Given the description of an element on the screen output the (x, y) to click on. 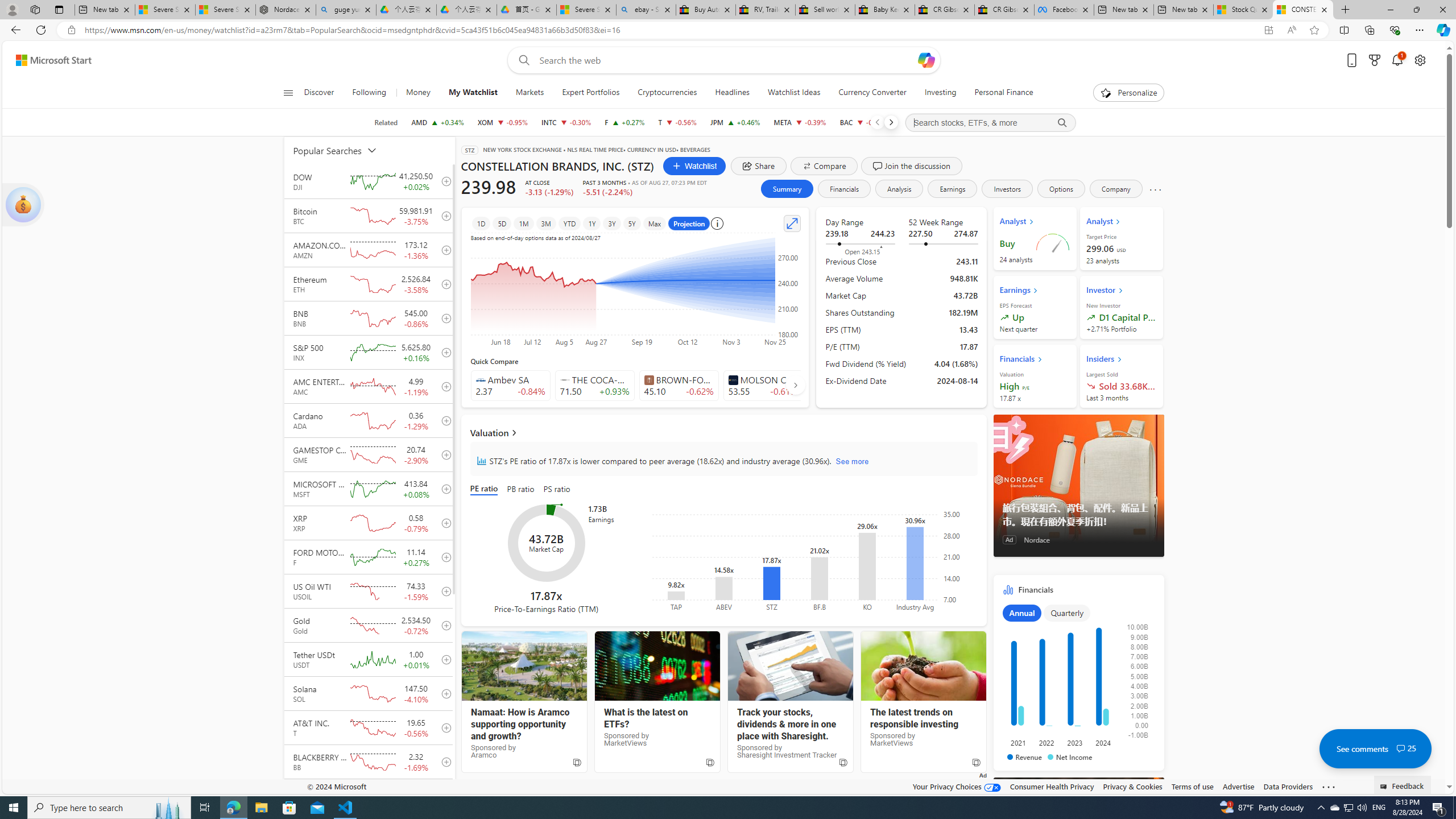
Annual (1021, 612)
Consumer Health Privacy (1051, 785)
show card (22, 204)
Cryptocurrencies (667, 92)
Investing (940, 92)
5D (502, 223)
